Given the description of an element on the screen output the (x, y) to click on. 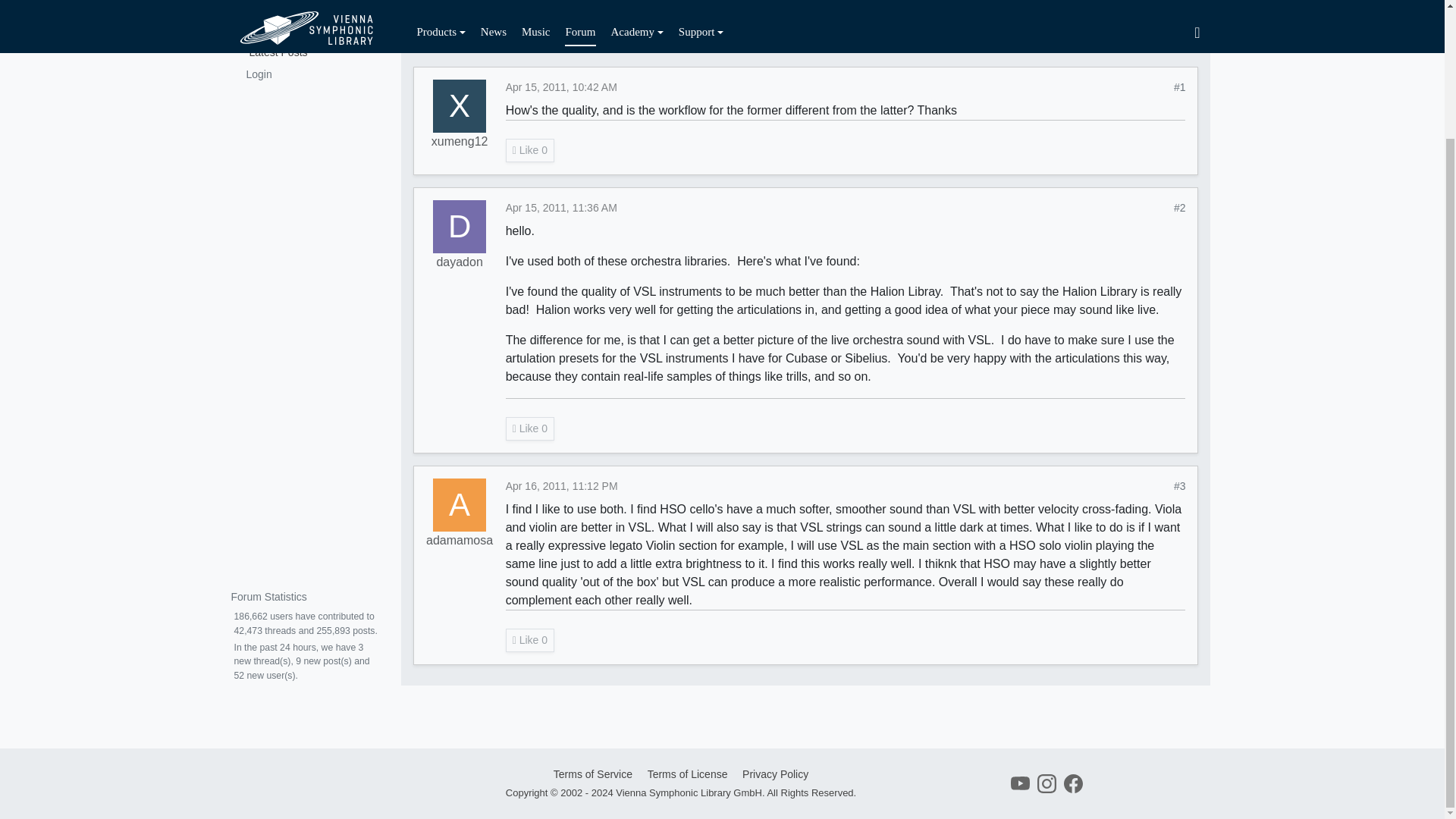
Latest Posts (304, 1)
xumeng12 (459, 105)
Apr 15, 2011, 10:42 AM (540, 23)
xumeng12 (458, 141)
dayadon (459, 226)
dayadon (458, 262)
Apr 15, 2011, 10:42 AM (561, 87)
xumeng12 (456, 23)
